Given the description of an element on the screen output the (x, y) to click on. 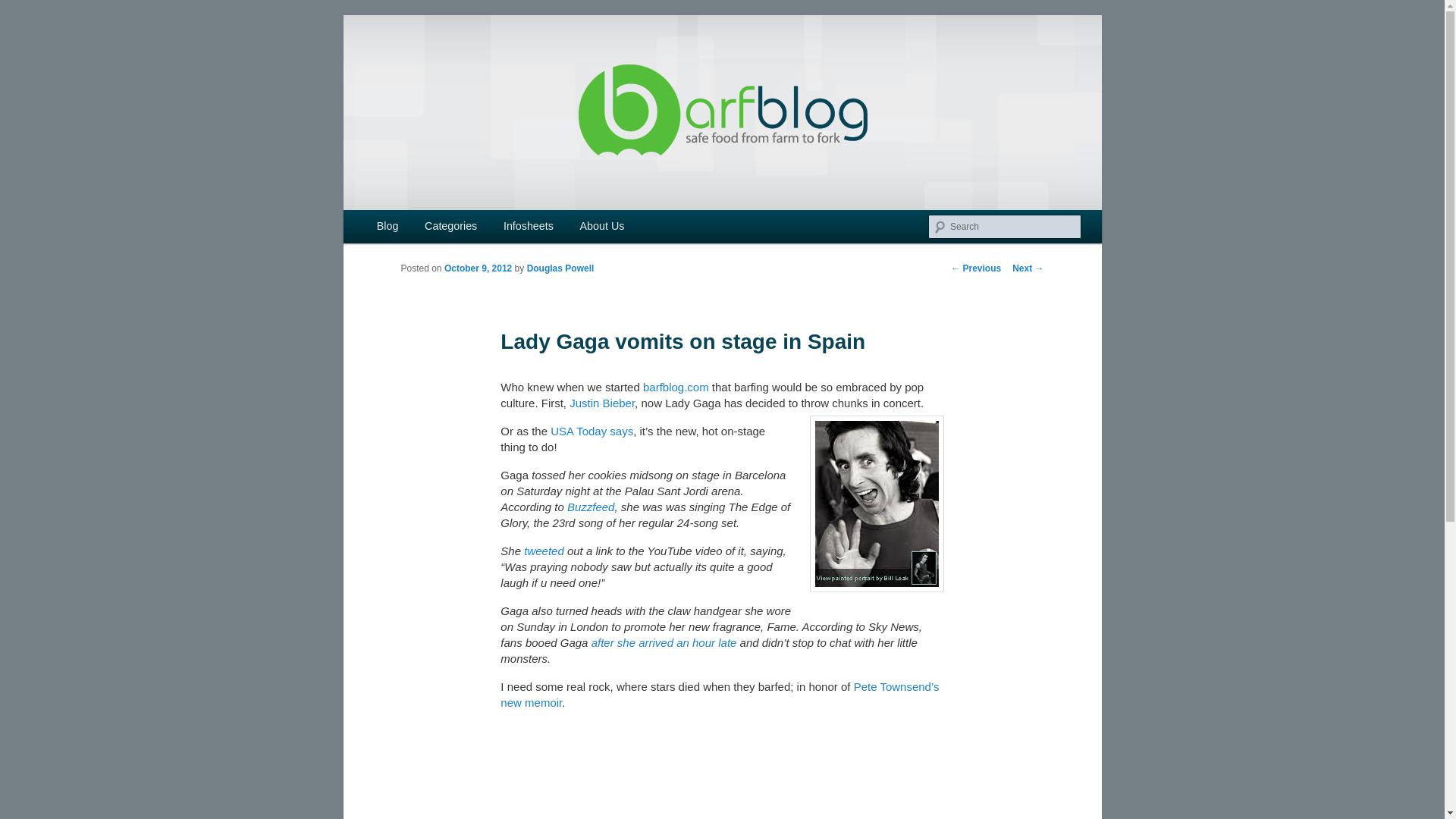
barfblog (446, 69)
View all posts by Douglas Powell (560, 267)
Categories (451, 225)
Justin Bieber (601, 402)
About Us (601, 225)
October 9, 2012 (478, 267)
Skip to primary content (414, 227)
barfblog.com (676, 386)
Skip to secondary content (421, 227)
Search (24, 8)
Skip to secondary content (421, 227)
Blog (388, 225)
3:46 am (478, 267)
Infosheets (528, 225)
Douglas Powell (560, 267)
